Given the description of an element on the screen output the (x, y) to click on. 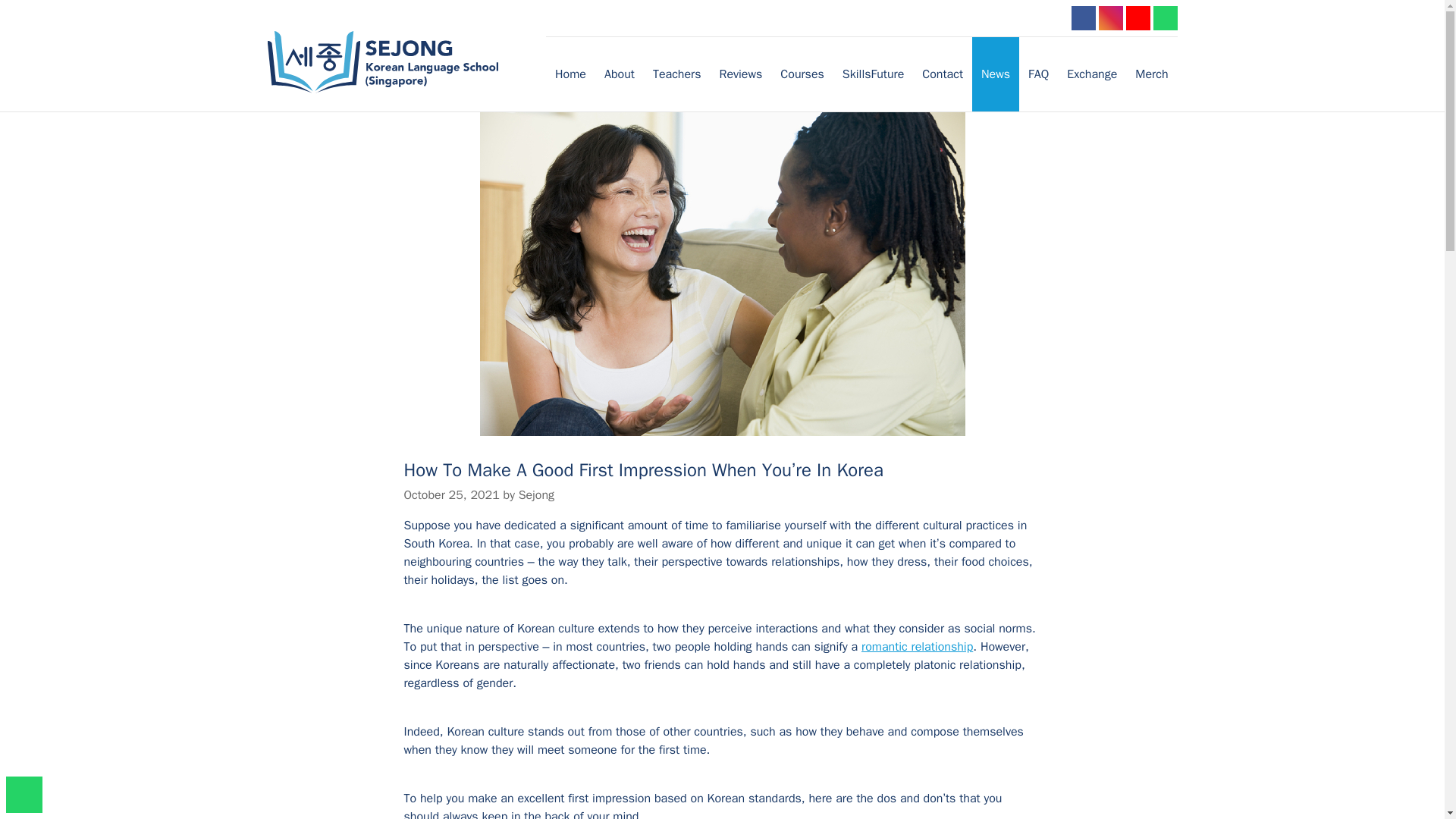
SkillsFuture (872, 73)
WhatsApp (1164, 17)
Sejong Korean Language School (396, 62)
Exchange (1091, 73)
romantic relationship (916, 646)
Instagram (1109, 17)
YouTube (1137, 17)
Facebook (1082, 17)
Teachers (676, 73)
